Given the description of an element on the screen output the (x, y) to click on. 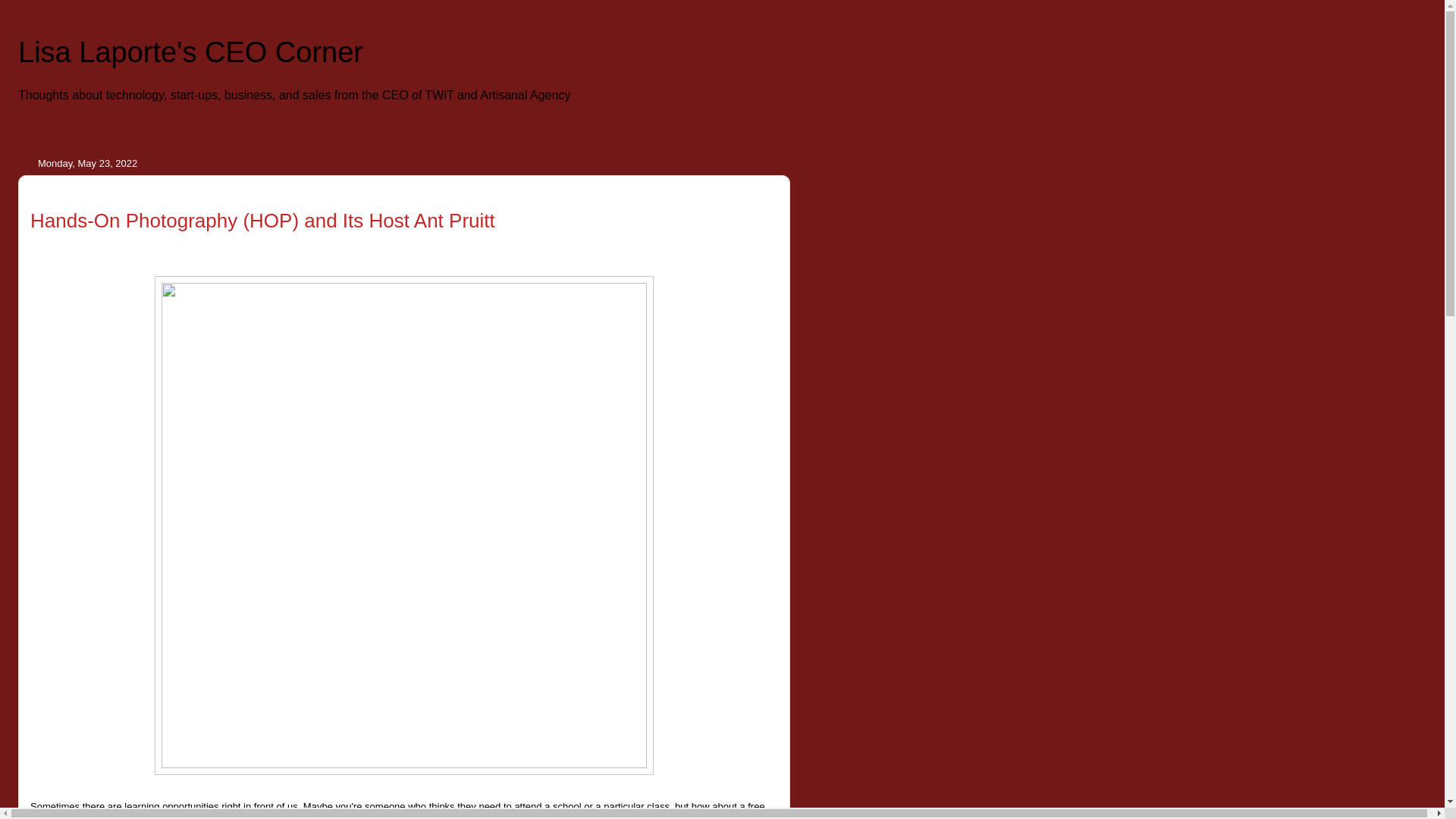
Lisa Laporte's CEO Corner Element type: text (190, 52)
Hands-On Photography (HOP) and Its Host Ant Pruitt Element type: text (262, 220)
